Given the description of an element on the screen output the (x, y) to click on. 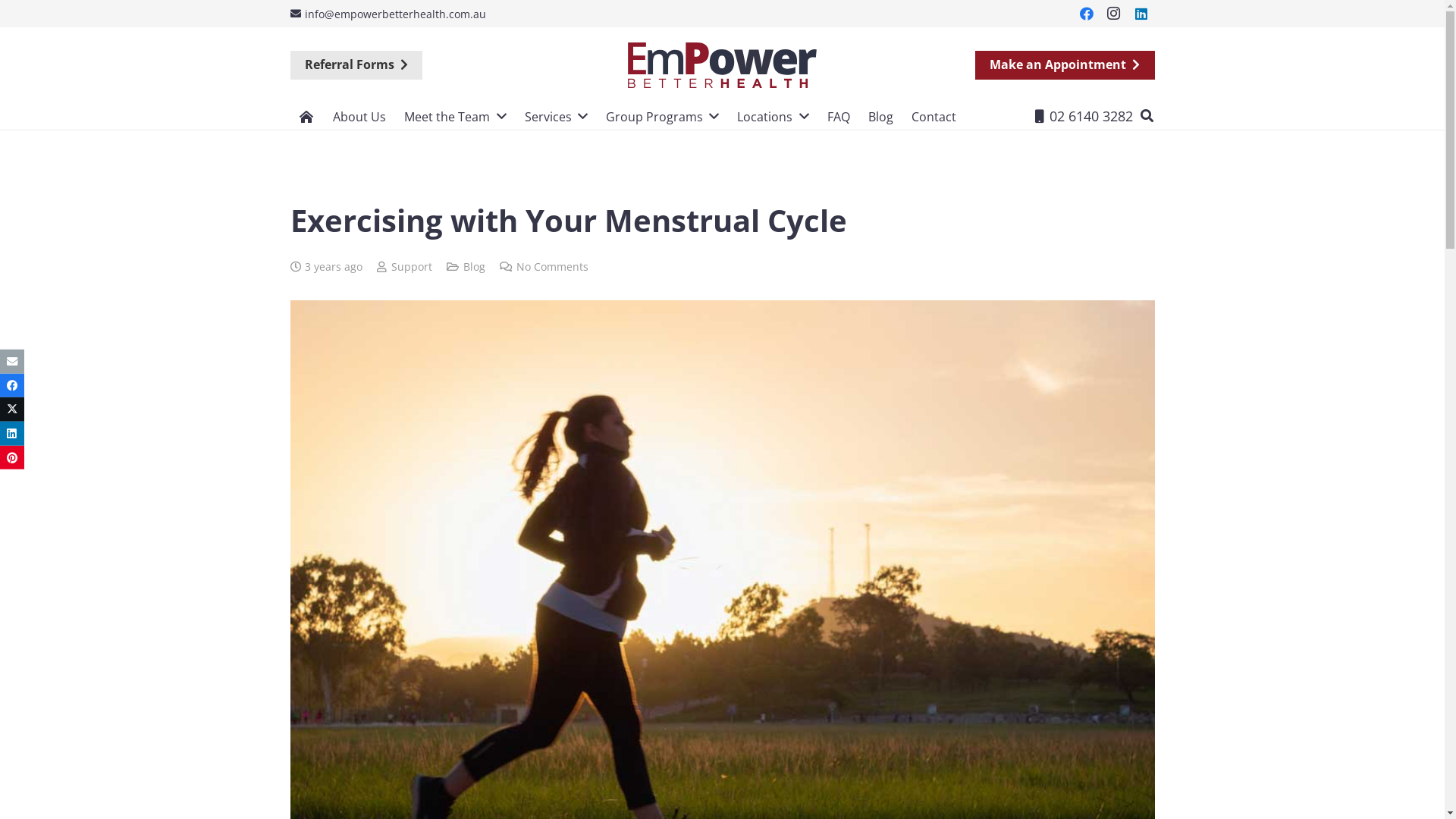
See Locations Element type: text (817, 470)
Instagram Element type: hover (791, 610)
LinkedIn Element type: hover (1140, 13)
Share this Element type: hover (12, 385)
02 6140 3282 Element type: text (1083, 115)
Cookie Policy Element type: text (756, 800)
Group Programs Element type: text (662, 115)
Services Element type: text (555, 115)
Referral Forms Element type: text (355, 64)
Share this Element type: hover (12, 433)
info@empowerbetterhealth.com.au Element type: text (387, 13)
Locations Element type: hover (762, 470)
Email this Element type: hover (12, 361)
Blog Element type: text (474, 266)
02 6140 3282 Element type: text (815, 540)
Tweet this Element type: hover (12, 409)
About Us Element type: text (359, 115)
Privacy Policy Element type: text (688, 800)
Instagram Element type: hover (1113, 13)
Newcastle Creative Co. Element type: text (891, 777)
Pin this Element type: hover (12, 457)
LinkedIn Element type: hover (827, 609)
Locations Element type: text (772, 115)
Meet the Team Element type: text (454, 115)
Facebook Element type: hover (1086, 13)
Make an Appointment Element type: text (492, 609)
Contact Element type: text (933, 115)
Send an Email Element type: text (818, 505)
Email Element type: hover (862, 609)
No Comments Element type: text (552, 266)
FAQ Element type: text (838, 115)
Send an Email Element type: hover (762, 505)
Blog Element type: text (880, 115)
Support Element type: text (411, 266)
Make an Appointment Element type: text (1064, 64)
Facebook Element type: hover (754, 609)
